Given the description of an element on the screen output the (x, y) to click on. 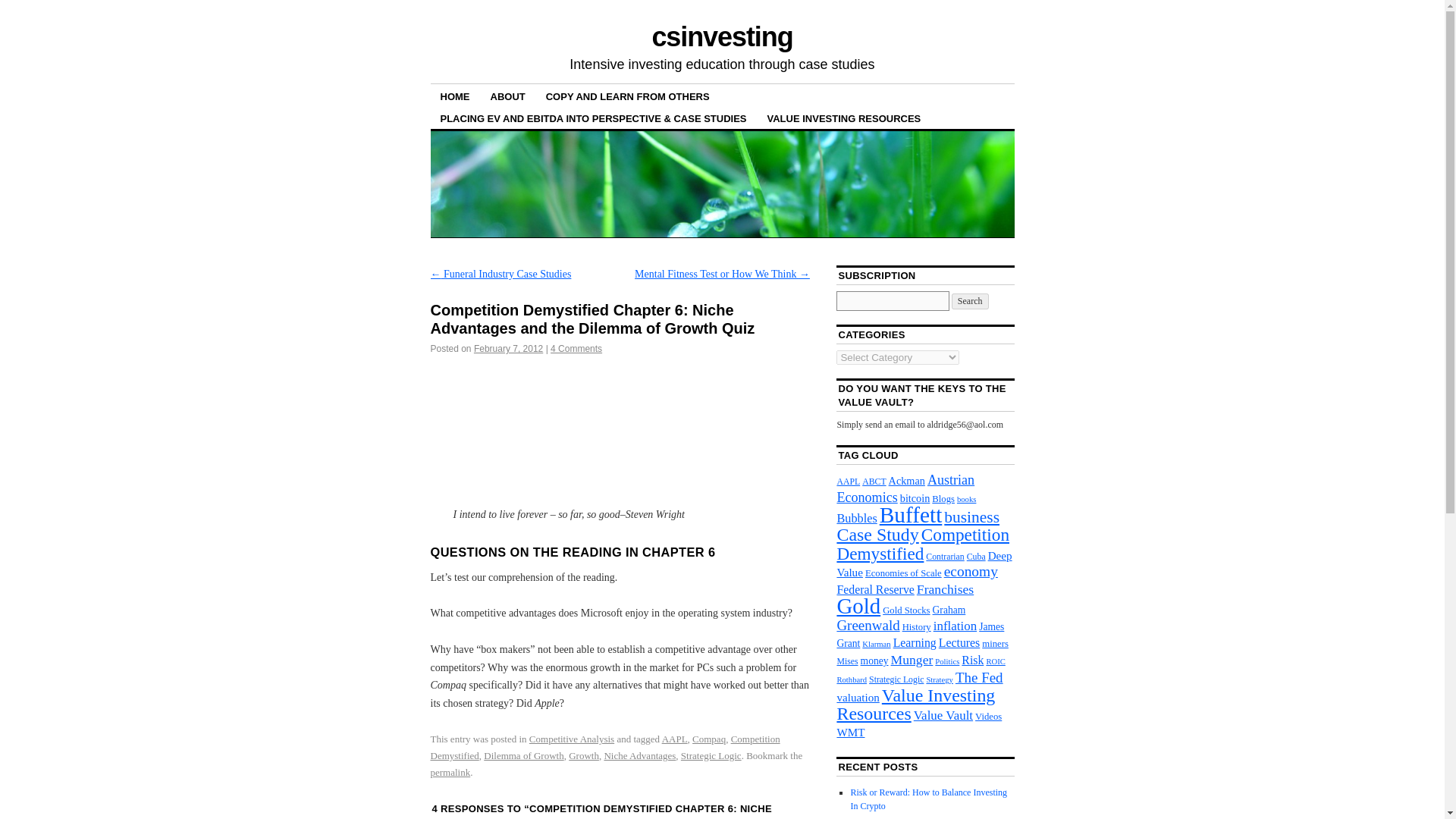
Growth (583, 755)
csinvesting (721, 36)
Bubbles (855, 518)
csinvesting (721, 36)
business (970, 516)
AAPL (847, 480)
Niche Advantages (639, 755)
COPY AND LEARN FROM OTHERS (627, 96)
4 Comments (576, 348)
11:40 am (508, 348)
